Given the description of an element on the screen output the (x, y) to click on. 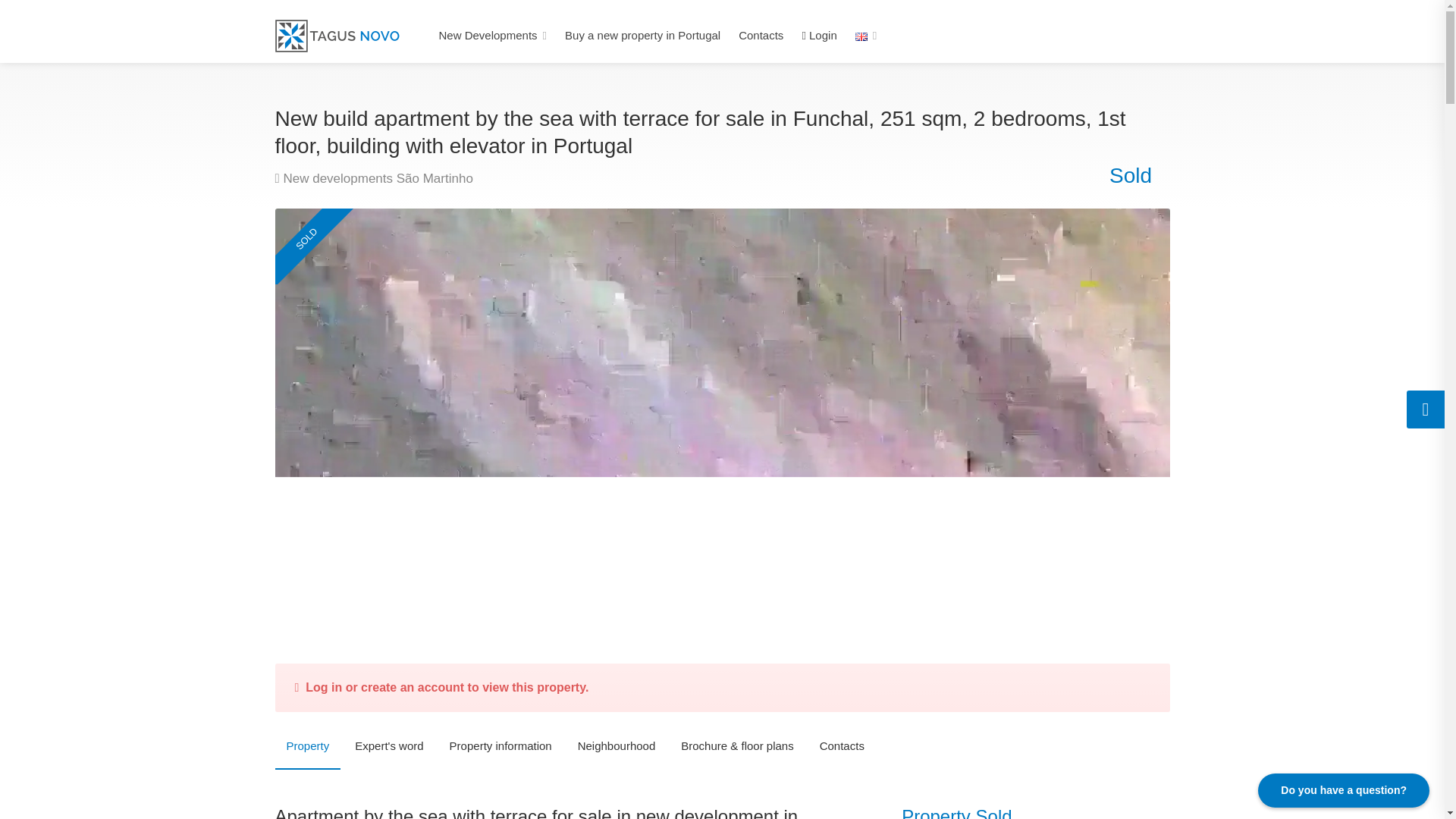
New Developments (492, 35)
Login (818, 35)
Buy a new property in Portugal (642, 35)
Contacts (760, 35)
